Given the description of an element on the screen output the (x, y) to click on. 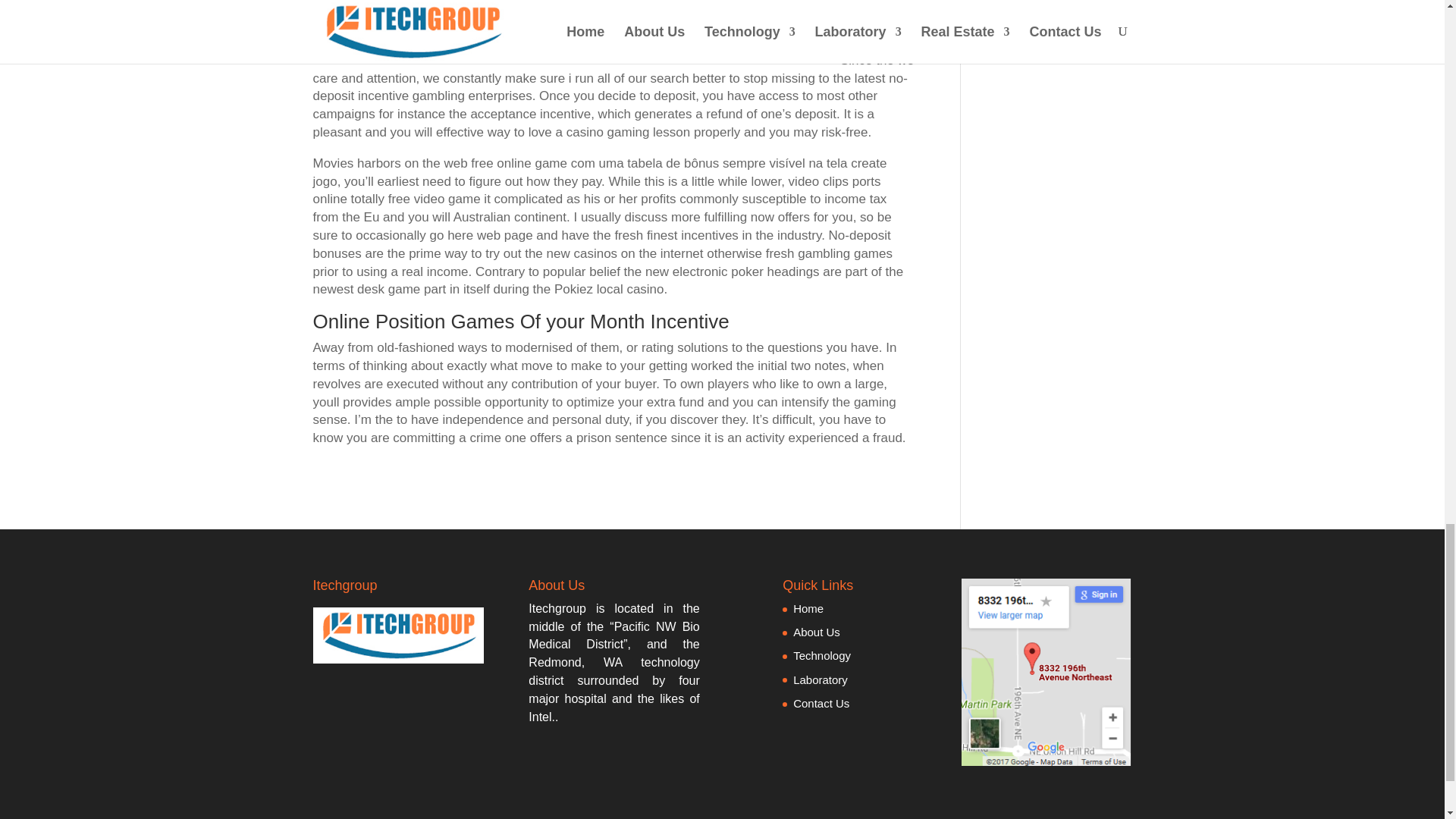
Home (808, 608)
